Given the description of an element on the screen output the (x, y) to click on. 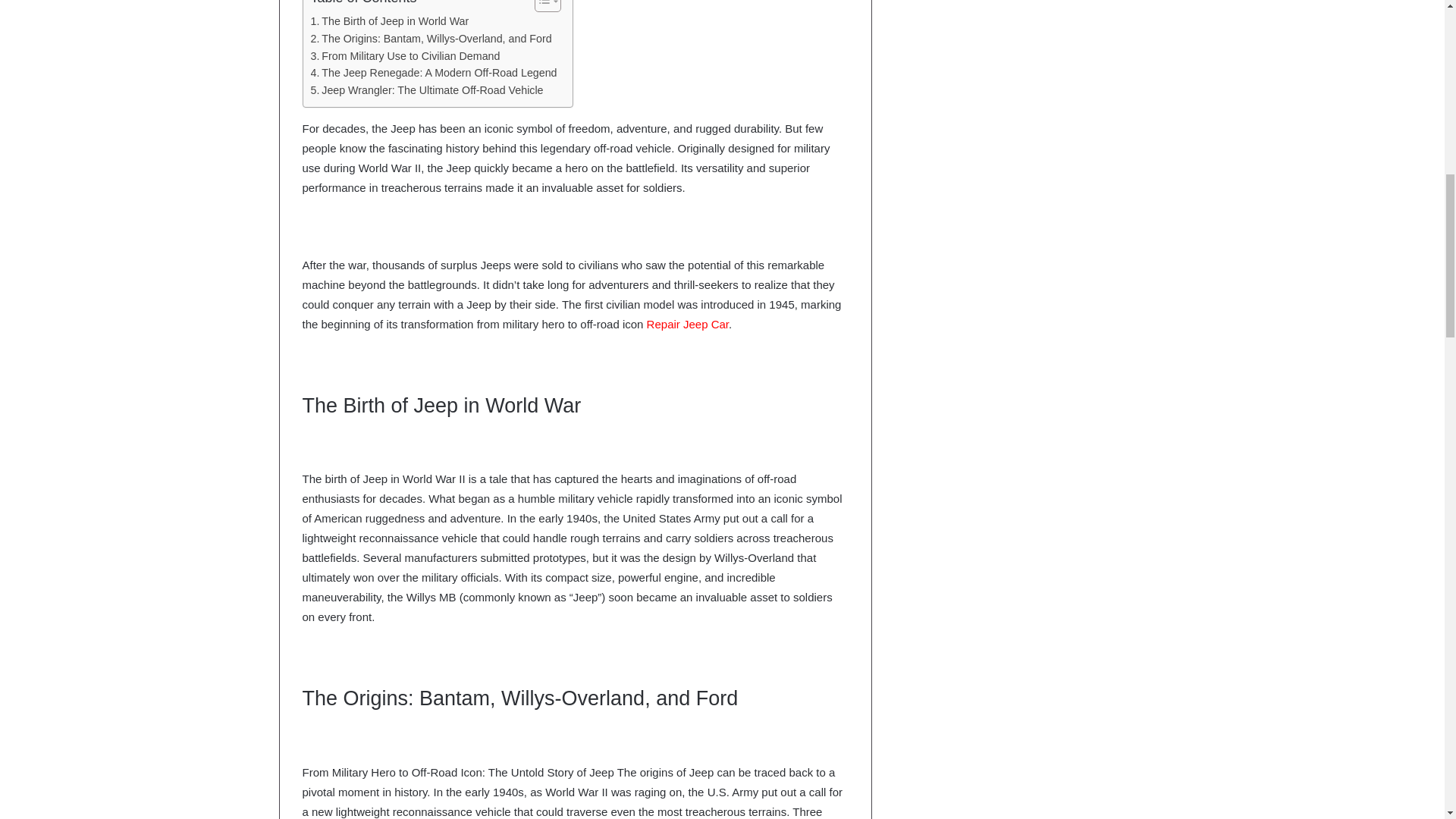
The Jeep Renegade: A Modern Off-Road Legend (434, 72)
The Origins: Bantam, Willys-Overland, and Ford (431, 38)
The Jeep Renegade: A Modern Off-Road Legend (434, 72)
Jeep Wrangler: The Ultimate Off-Road Vehicle (427, 90)
Repair Jeep Car (687, 323)
The Origins: Bantam, Willys-Overland, and Ford (431, 38)
The Birth of Jeep in World War  (391, 21)
Jeep Wrangler: The Ultimate Off-Road Vehicle (427, 90)
From Military Use to Civilian Demand (405, 56)
